Given the description of an element on the screen output the (x, y) to click on. 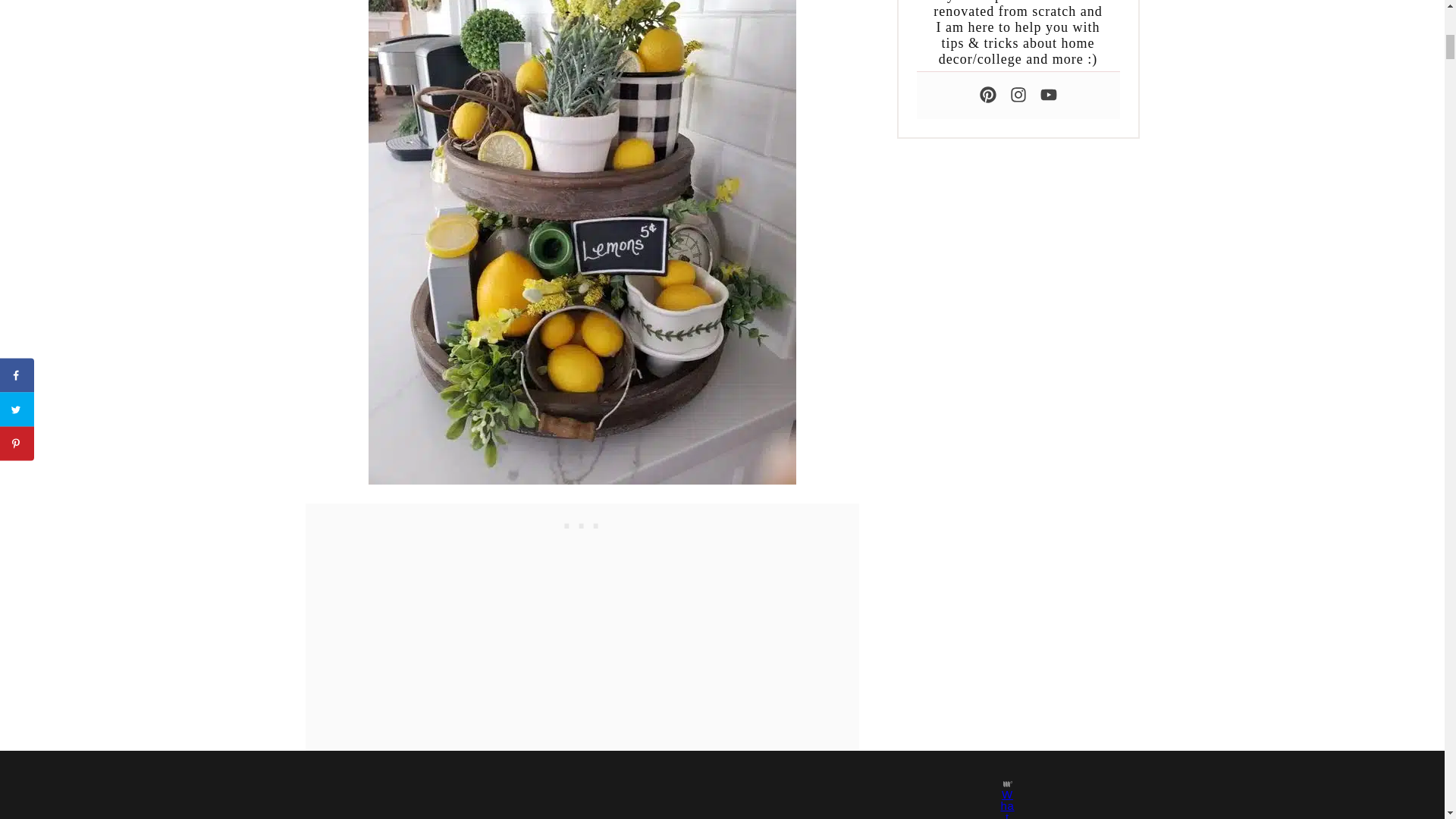
3rd party ad content (582, 522)
